Given the description of an element on the screen output the (x, y) to click on. 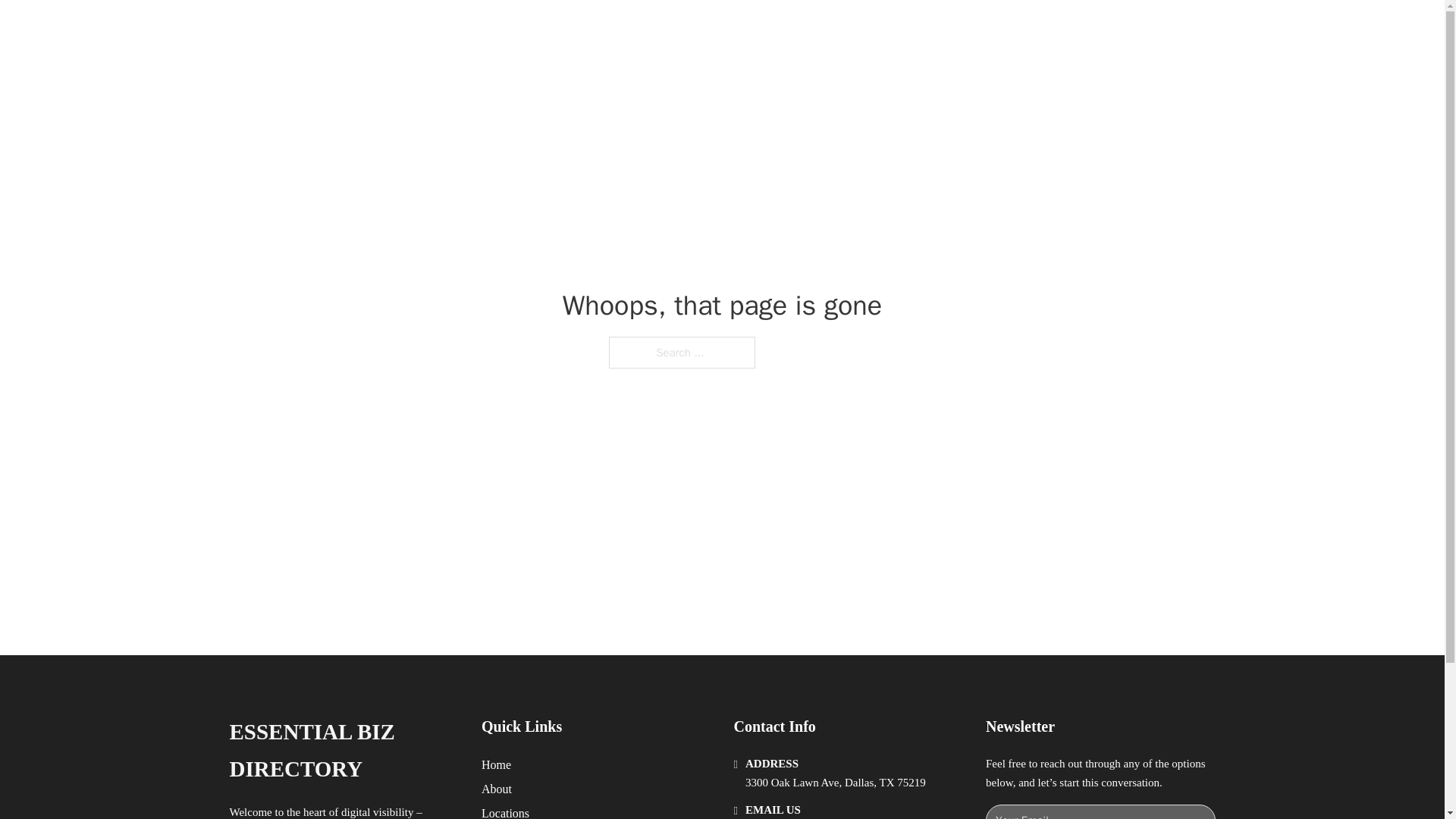
Home (496, 764)
ESSENTIAL BIZ DIRECTORY (343, 750)
LOCATIONS (990, 29)
Locations (505, 811)
HOME (919, 29)
About (496, 788)
